Given the description of an element on the screen output the (x, y) to click on. 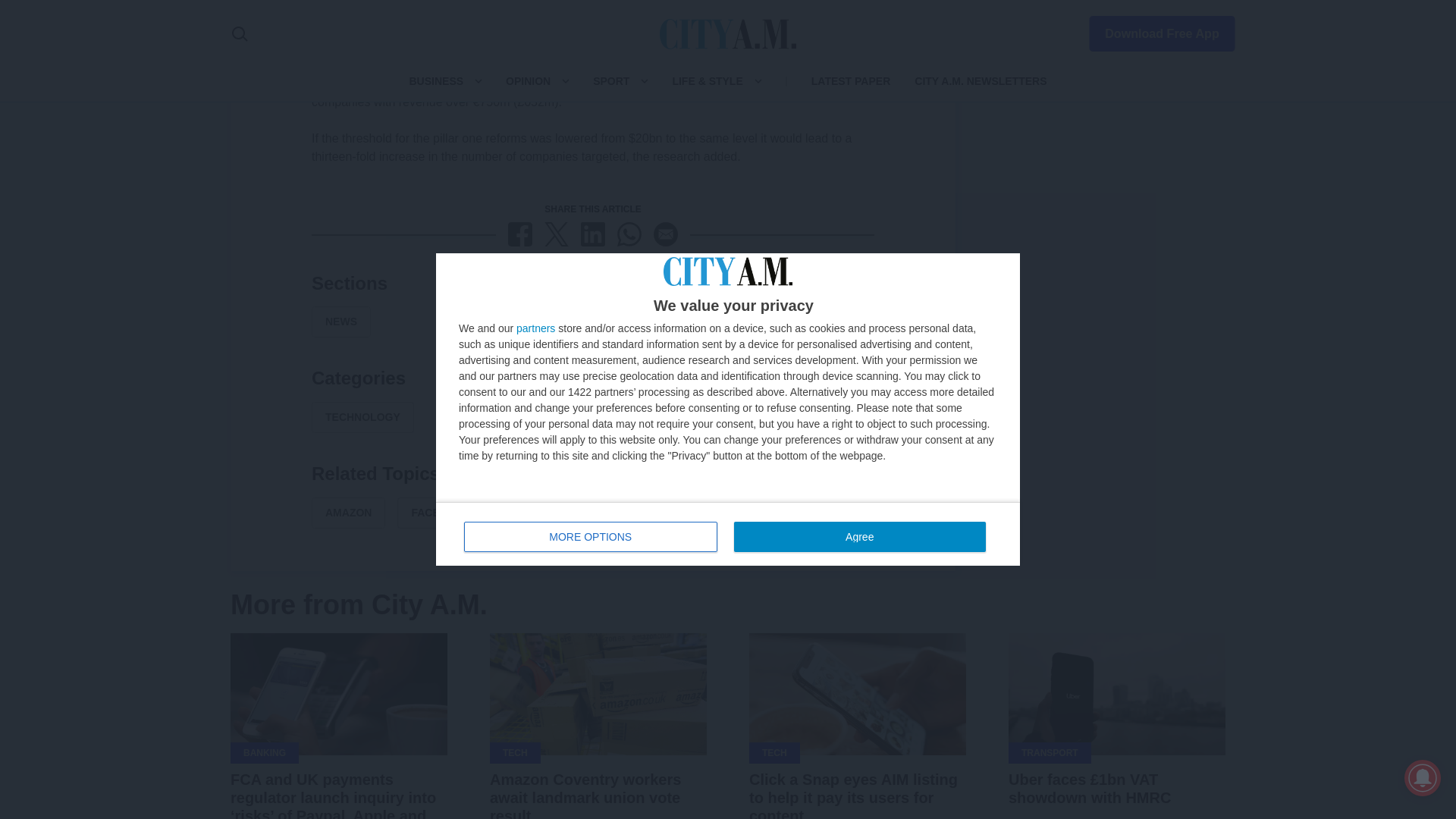
WhatsApp (629, 233)
X (556, 233)
Facebook (520, 233)
LinkedIn (592, 233)
Email (665, 233)
